Given the description of an element on the screen output the (x, y) to click on. 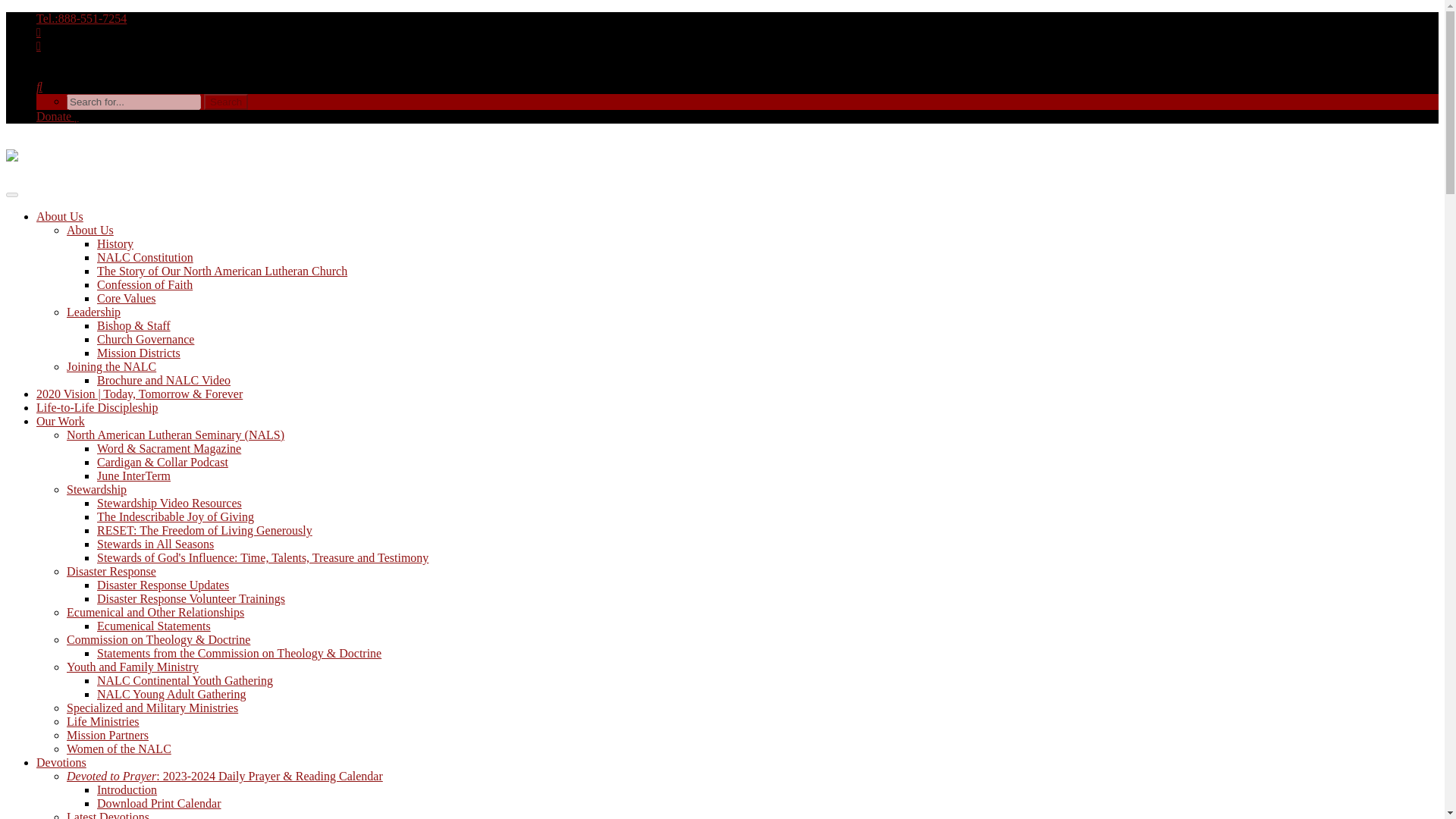
Core Values (126, 297)
Disaster Response (110, 571)
Search (225, 101)
June InterTerm (133, 475)
Stewardship Video Resources (169, 502)
NALC Constitution (145, 256)
Confession of Faith (144, 284)
Life-to-Life Discipleship (96, 407)
Joining the NALC (110, 366)
The Story of Our North American Lutheran Church (222, 270)
